Given the description of an element on the screen output the (x, y) to click on. 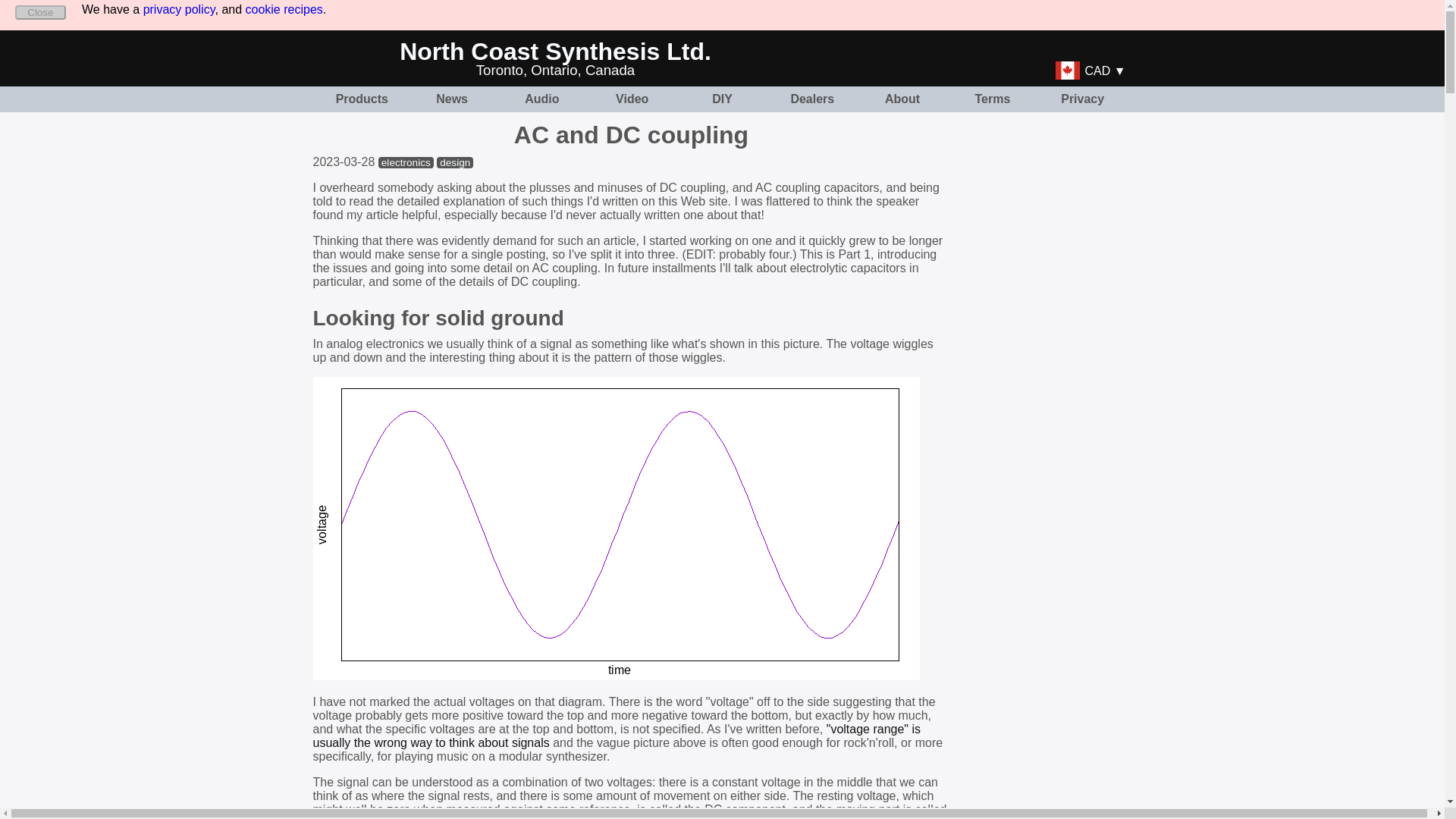
Terms (992, 98)
Products (362, 98)
Dealers (812, 98)
Close (39, 11)
Audio (541, 98)
About (902, 98)
Video (631, 98)
News (451, 98)
privacy policy (178, 9)
cookie recipes (284, 9)
